Given the description of an element on the screen output the (x, y) to click on. 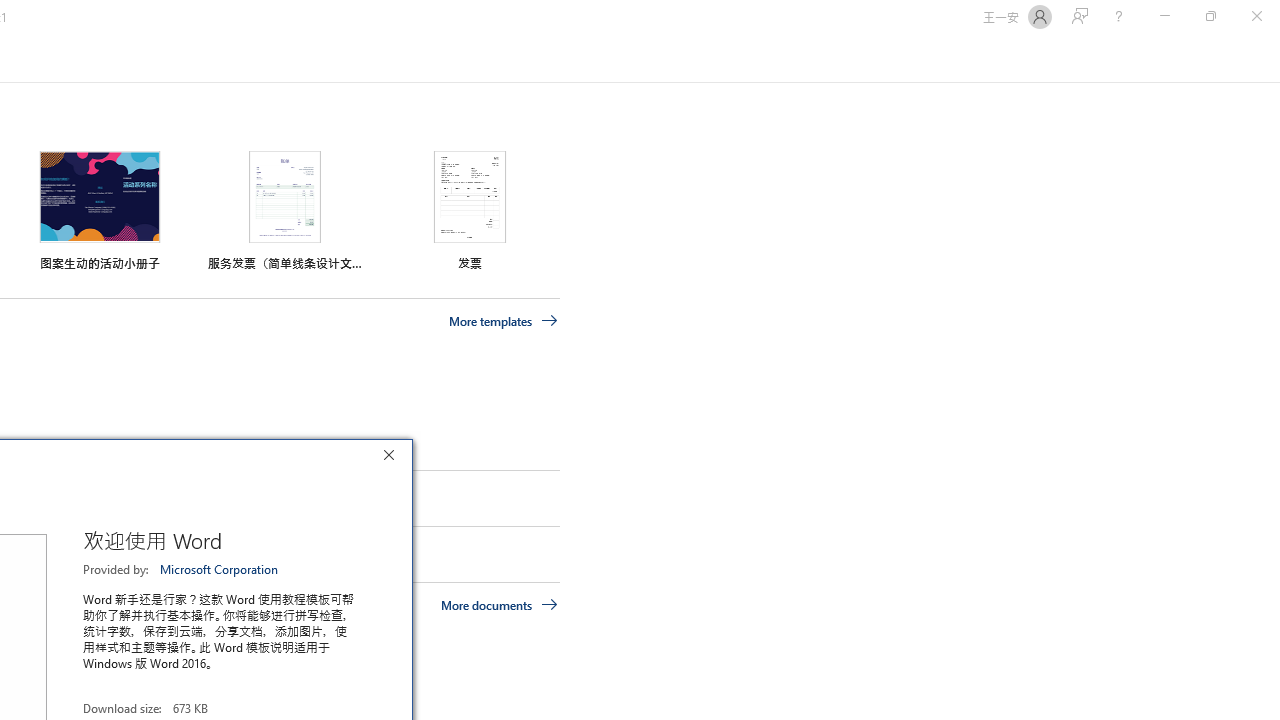
More templates (503, 321)
Microsoft Corporation (220, 569)
More documents (499, 604)
